Given the description of an element on the screen output the (x, y) to click on. 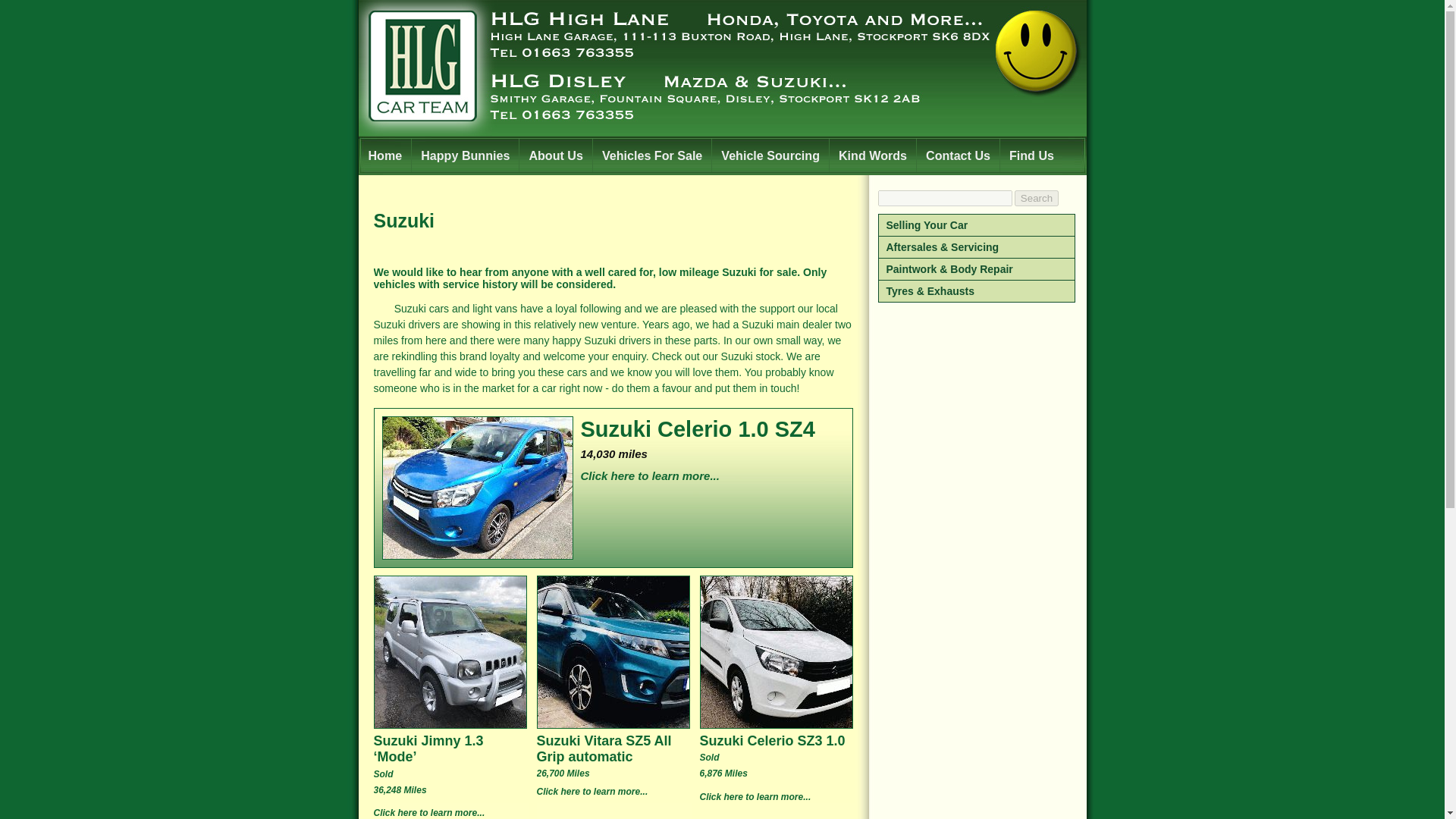
Click here to learn more... (612, 479)
Suzuki Celerio SZ3 1.0 (776, 740)
Vehicles For Sale (651, 154)
Find Us (1030, 154)
Suzuki Celerio SZ3 1.0 (776, 740)
About Us (555, 154)
Search (1036, 198)
Click here to learn more... (776, 800)
Suzuki Vitara SZ5 All Grip automatic (615, 748)
Vehicle Sourcing (769, 154)
Kind Words (871, 154)
Click here to learn more... (450, 813)
Suzuki Celerio 1.0 SZ4 (612, 429)
Contact Us (956, 154)
Selling Your Car (976, 225)
